Given the description of an element on the screen output the (x, y) to click on. 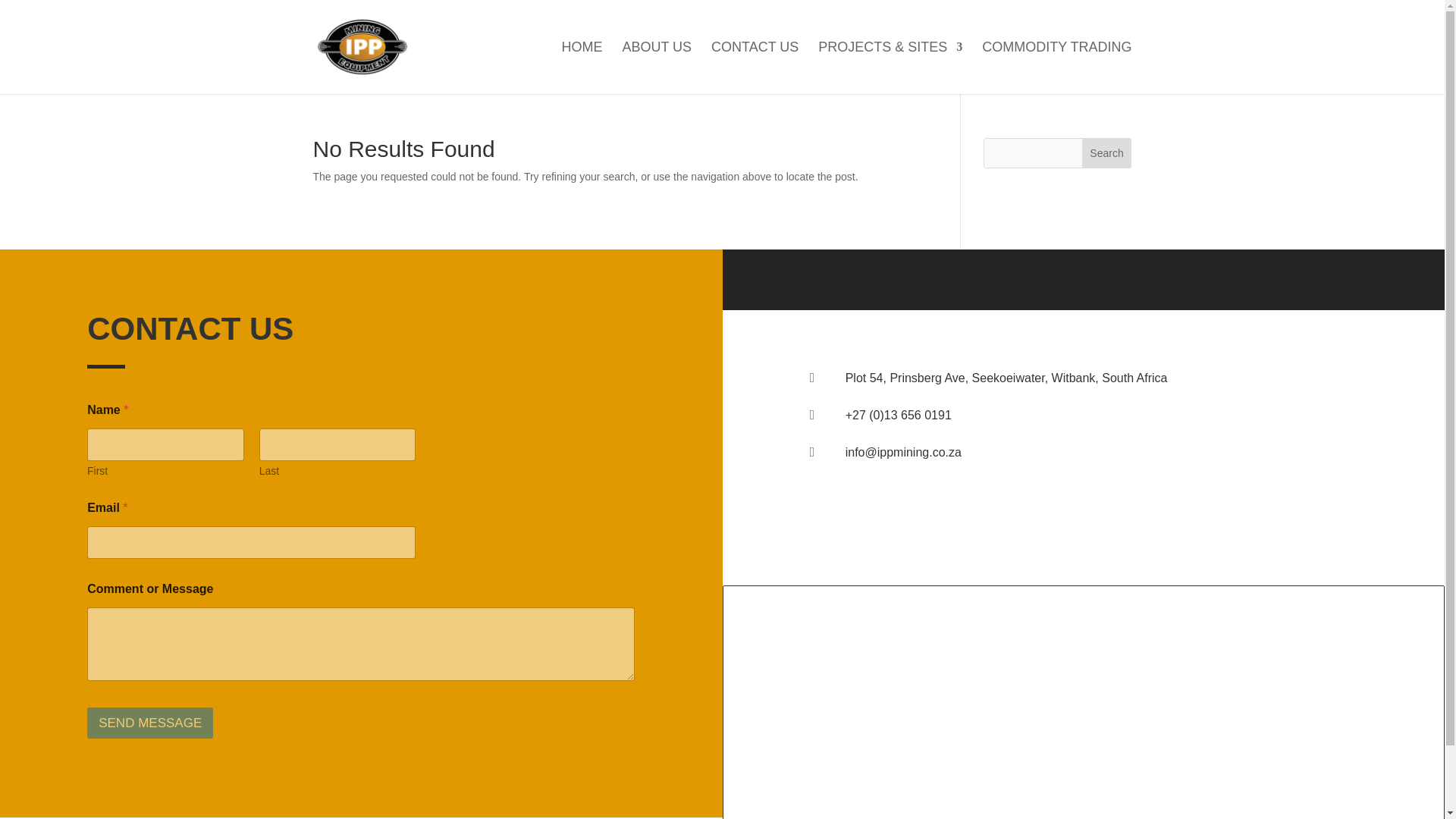
SEND MESSAGE (149, 722)
CONTACT US (754, 67)
ABOUT US (656, 67)
Search (1106, 153)
HOME (582, 67)
COMMODITY TRADING (1056, 67)
